Given the description of an element on the screen output the (x, y) to click on. 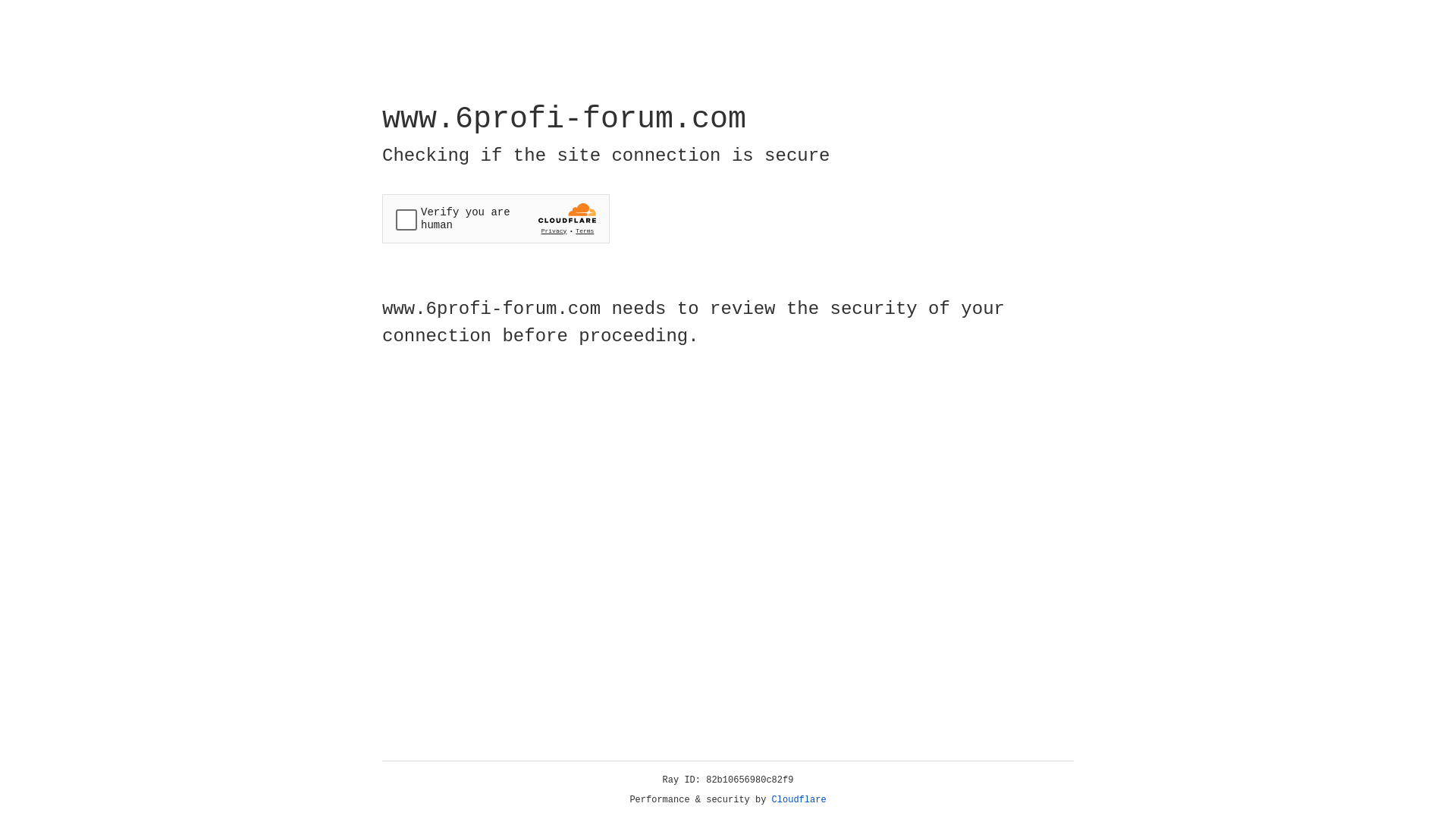
Cloudflare Element type: text (798, 799)
Widget containing a Cloudflare security challenge Element type: hover (495, 218)
